Given the description of an element on the screen output the (x, y) to click on. 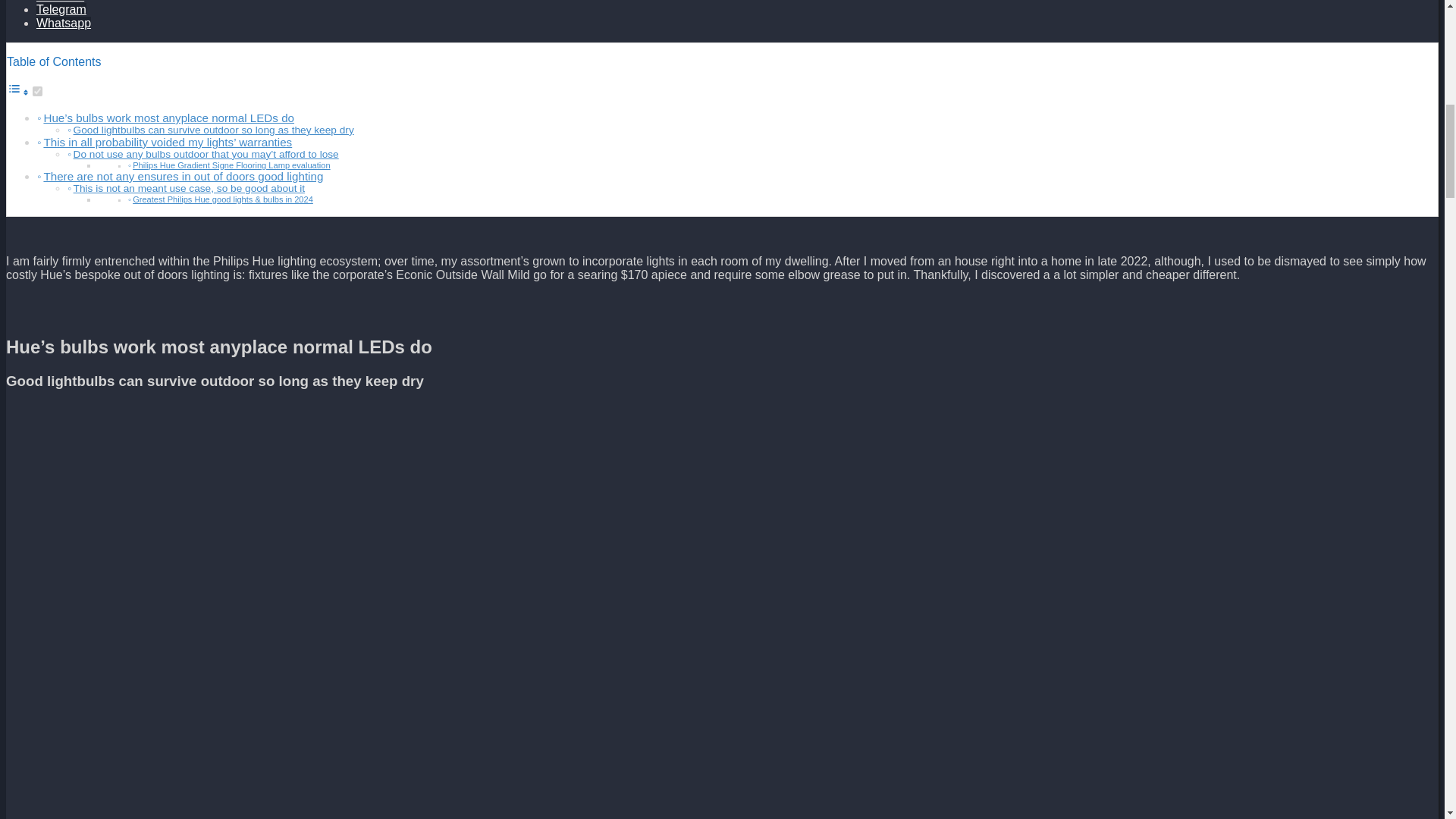
There are not any ensures in out of doors good lighting (183, 175)
Philips Hue Gradient Signe Flooring Lamp evaluation (231, 164)
Good lightbulbs can survive outdoor so long as they keep dry (213, 129)
This is not an meant use case, so be good about it (189, 188)
on (37, 91)
